Given the description of an element on the screen output the (x, y) to click on. 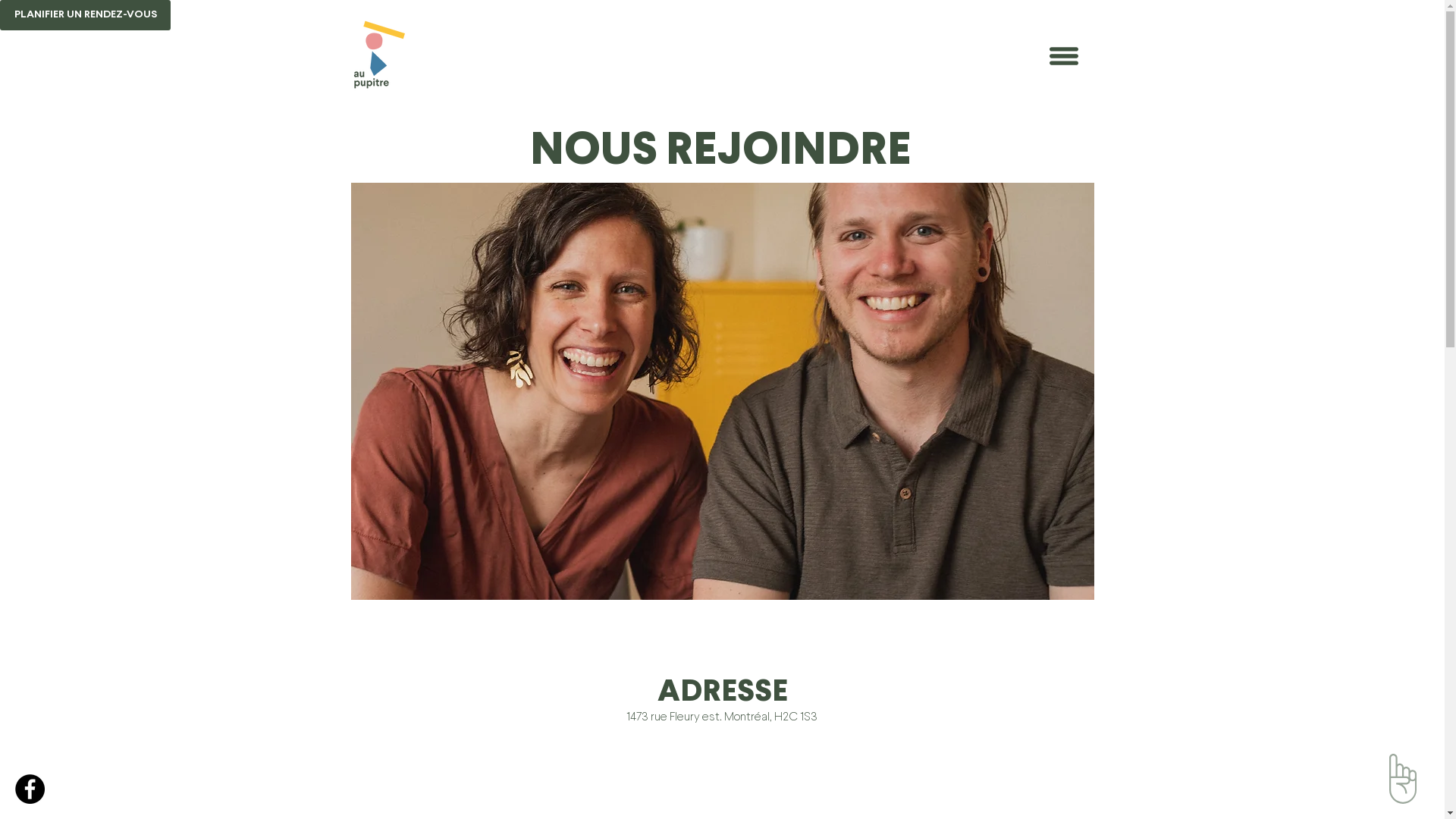
PLANIFIER UN RENDEZ-VOUS Element type: text (85, 15)
